Given the description of an element on the screen output the (x, y) to click on. 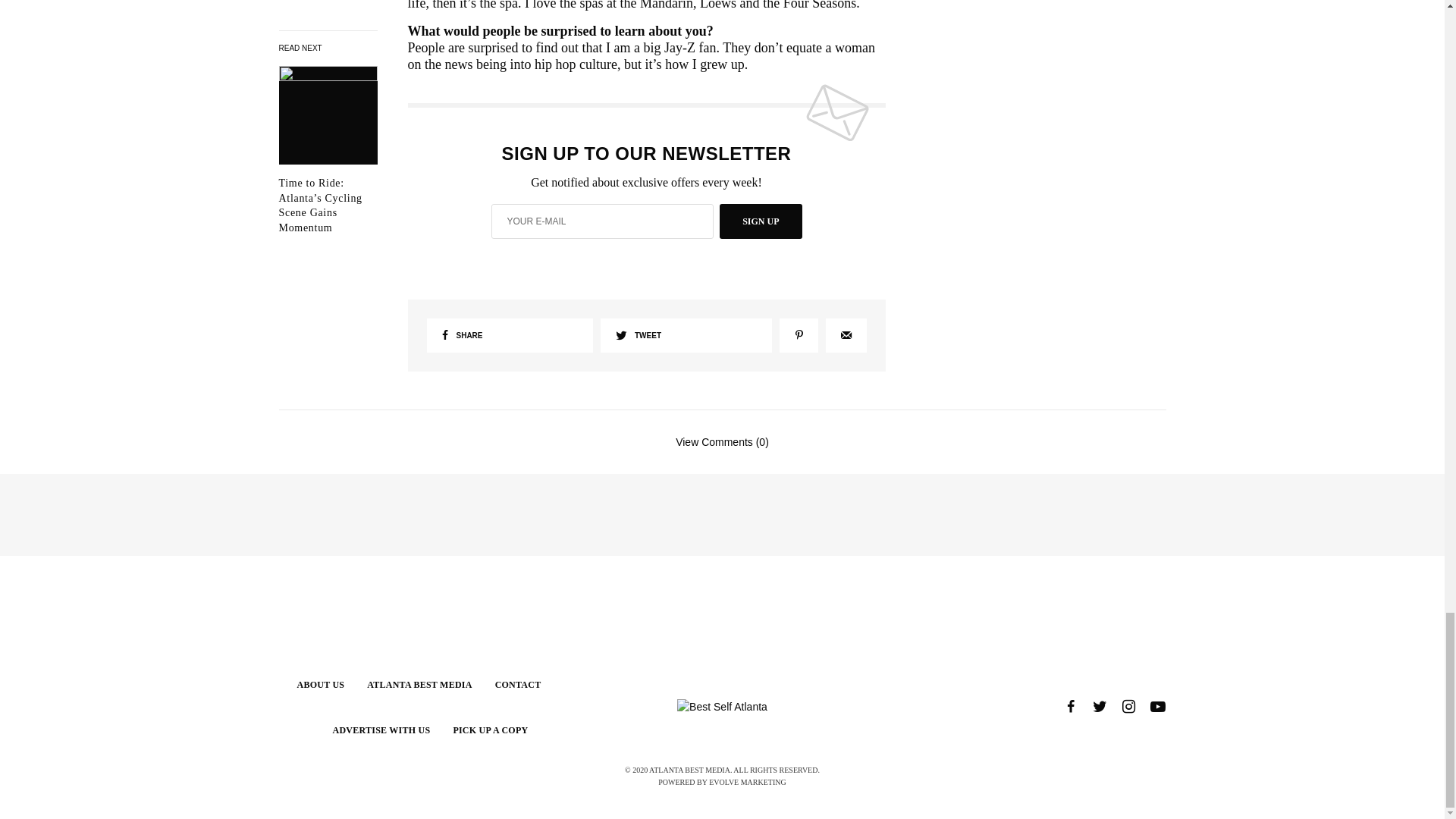
SIGN UP (760, 221)
Best Self Atlanta (722, 707)
SHARE (509, 335)
TWEET (685, 335)
